Given the description of an element on the screen output the (x, y) to click on. 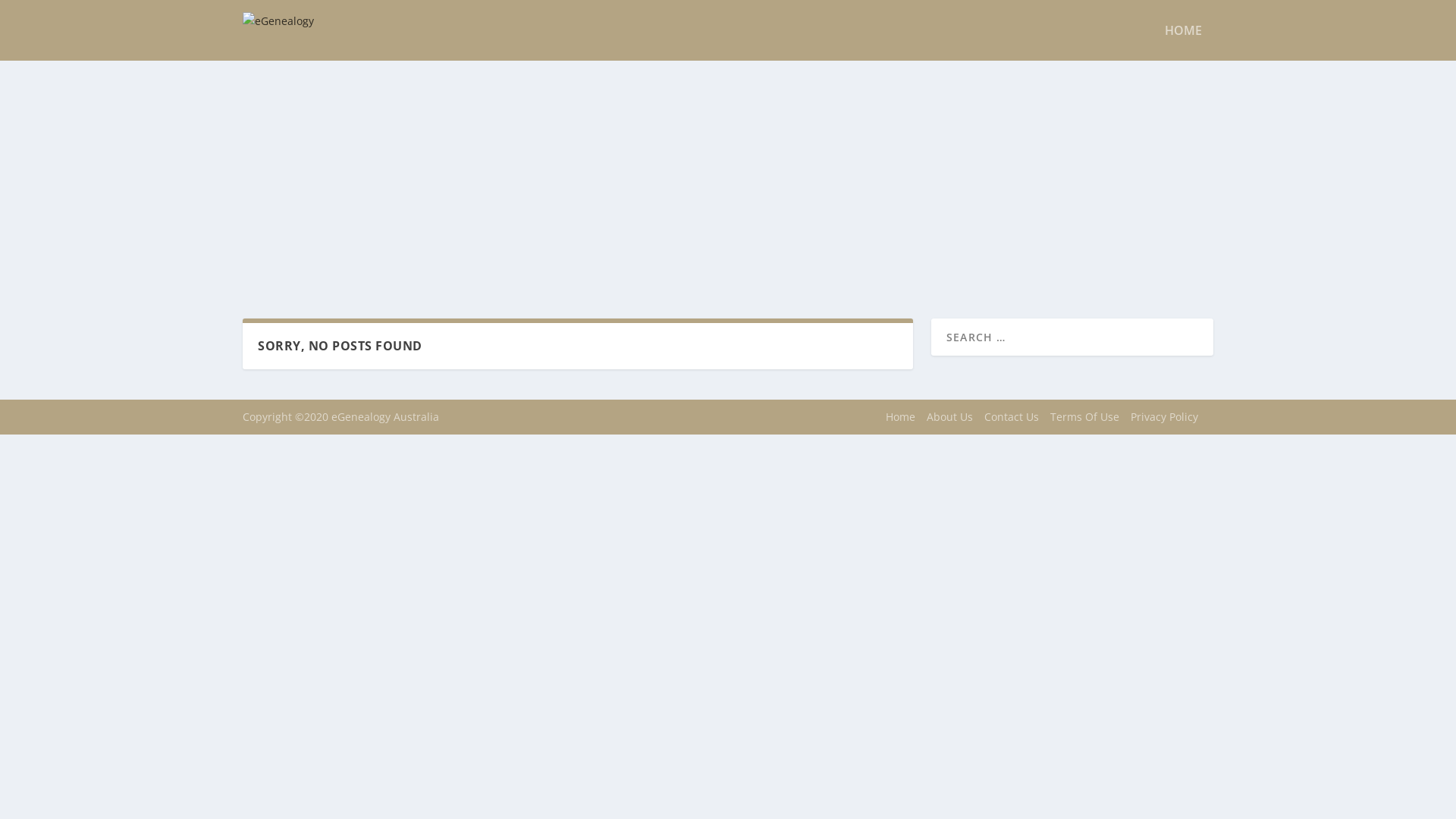
Terms Of Use Element type: text (1084, 416)
Contact Us Element type: text (1011, 416)
Advertisement Element type: hover (728, 174)
Search Element type: text (29, 14)
Privacy Policy Element type: text (1164, 416)
Home Element type: text (900, 416)
About Us Element type: text (949, 416)
HOME Element type: text (1182, 42)
